Given the description of an element on the screen output the (x, y) to click on. 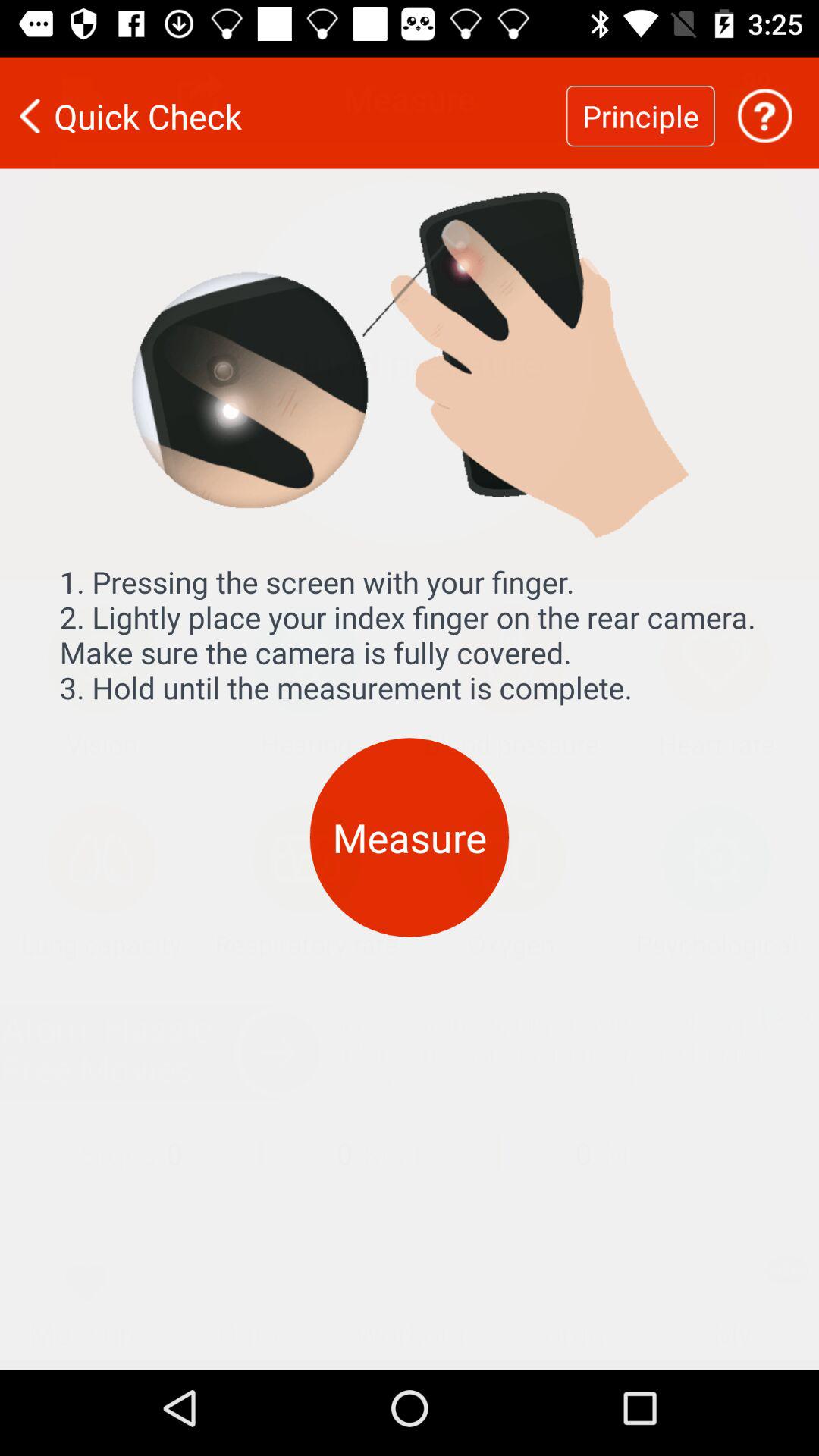
choose quick check (283, 106)
